Given the description of an element on the screen output the (x, y) to click on. 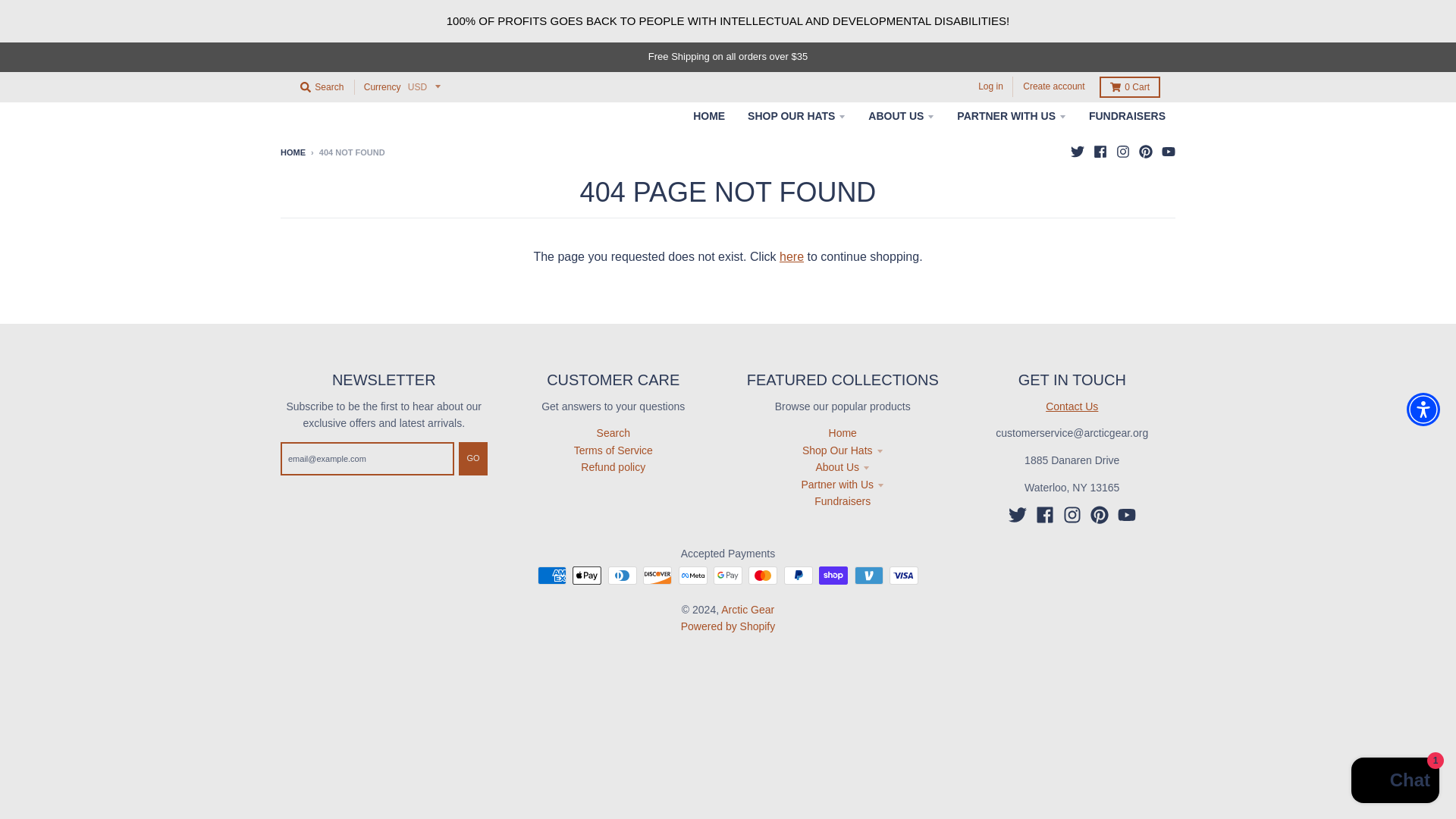
Accessibility Menu (1422, 409)
Instagram - Arctic Gear (1071, 515)
Back to the frontpage (293, 152)
Create account (1053, 86)
Instagram - Arctic Gear (1122, 151)
Pinterest - Arctic Gear (1145, 151)
Log in (990, 86)
Facebook - Arctic Gear (1044, 515)
SHOP OUR HATS (797, 115)
Facebook - Arctic Gear (1099, 151)
0 Cart (1129, 86)
YouTube - Arctic Gear (1126, 515)
Twitter - Arctic Gear (1017, 515)
YouTube - Arctic Gear (1167, 151)
HOME (708, 115)
